Given the description of an element on the screen output the (x, y) to click on. 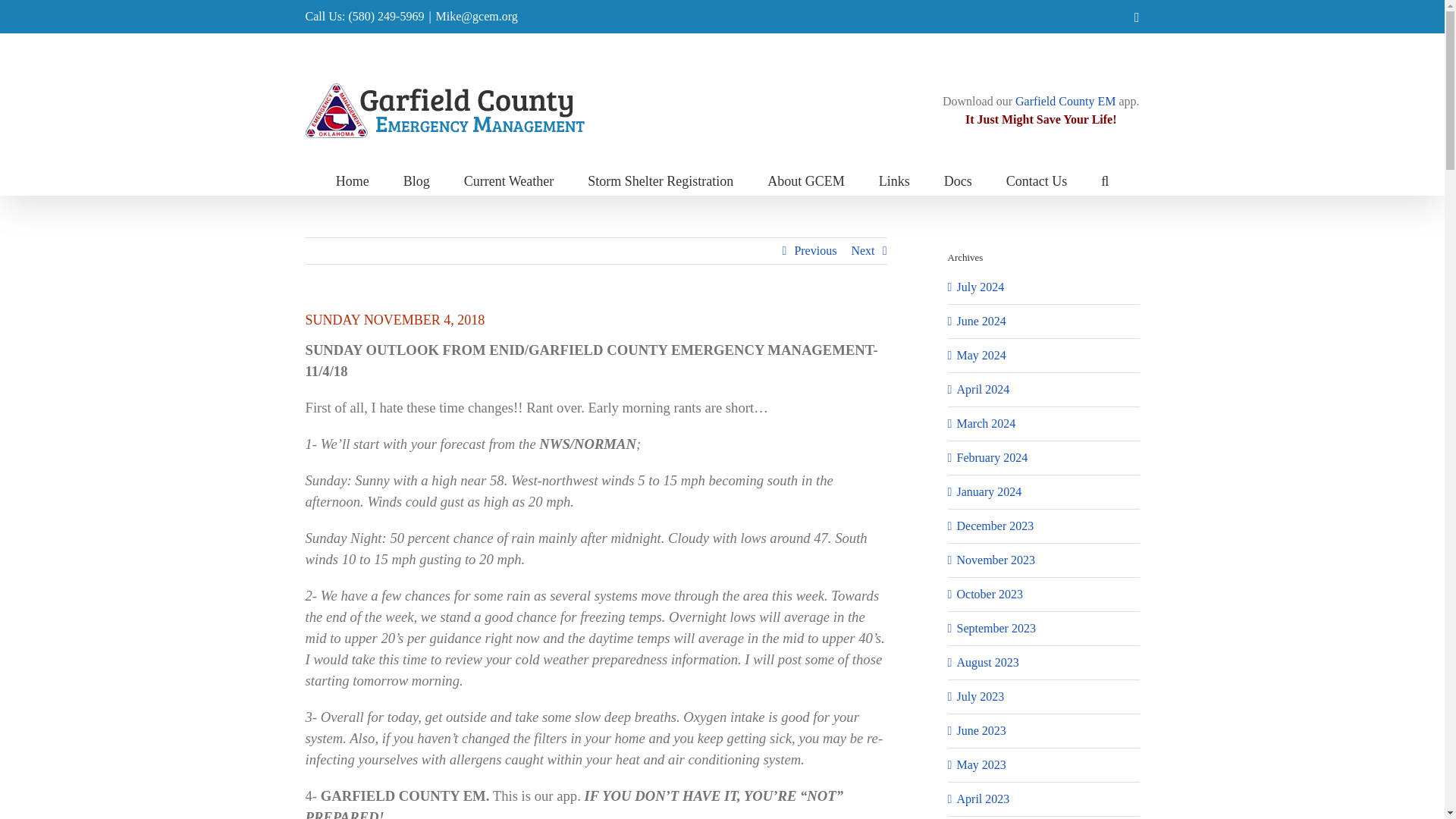
Docs (957, 179)
Home (352, 179)
Current Weather (509, 179)
Garfield County EM (1064, 101)
Contact Us (1036, 179)
Links (894, 179)
About GCEM (805, 179)
Storm Shelter Registration (660, 179)
